Given the description of an element on the screen output the (x, y) to click on. 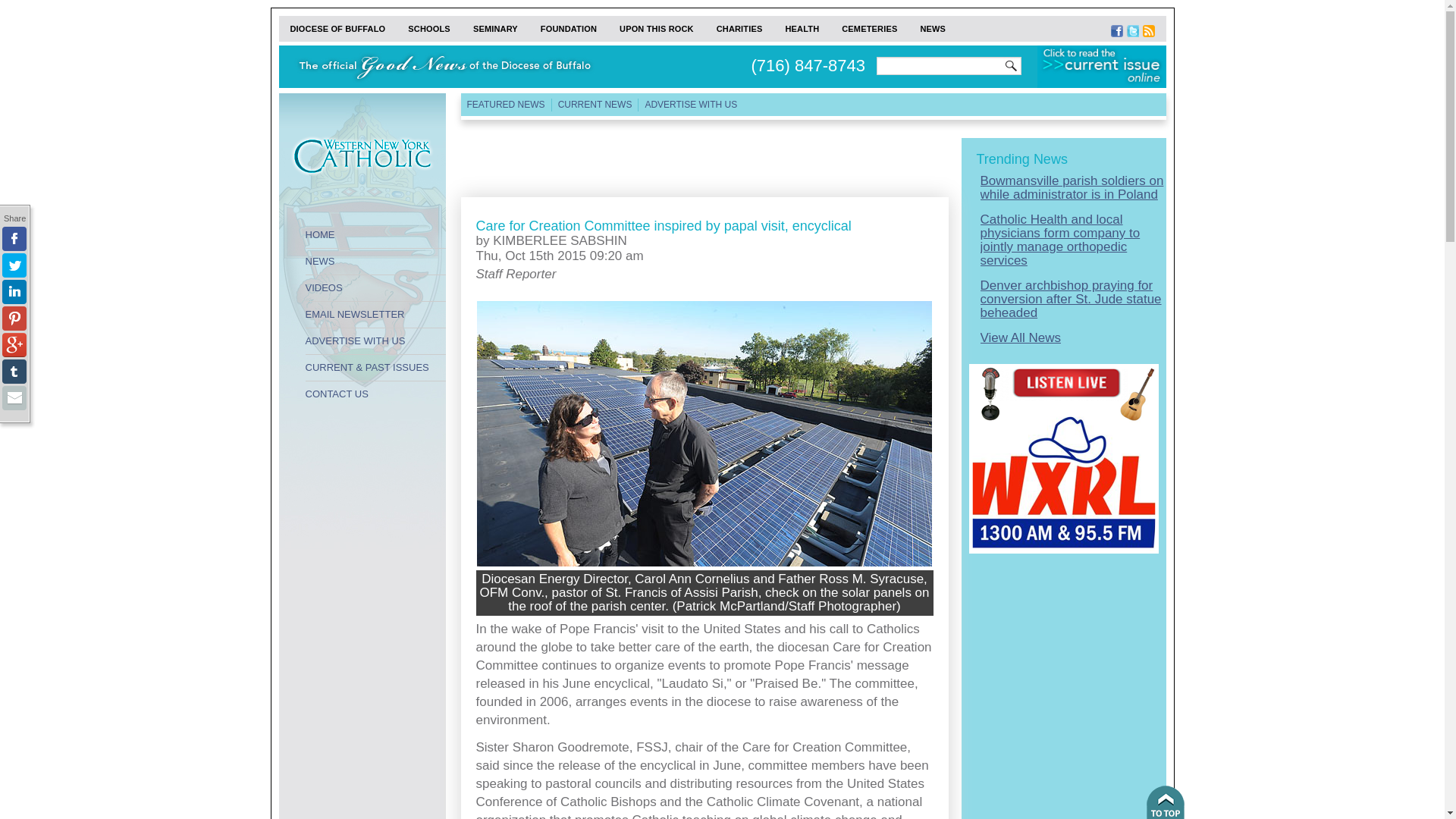
SCHOOLS (428, 28)
NEWS (374, 261)
FEATURED NEWS (506, 104)
UPON THIS ROCK (656, 28)
CURRENT NEWS (595, 104)
ADVERTISE WITH US (374, 340)
HEALTH (801, 28)
DIOCESE OF BUFFALO (338, 28)
ADVERTISE WITH US (690, 104)
CEMETERIES (868, 28)
VIDEOS (374, 288)
FOUNDATION (568, 28)
SEMINARY (495, 28)
HOME (374, 234)
EMAIL NEWSLETTER (374, 314)
